Given the description of an element on the screen output the (x, y) to click on. 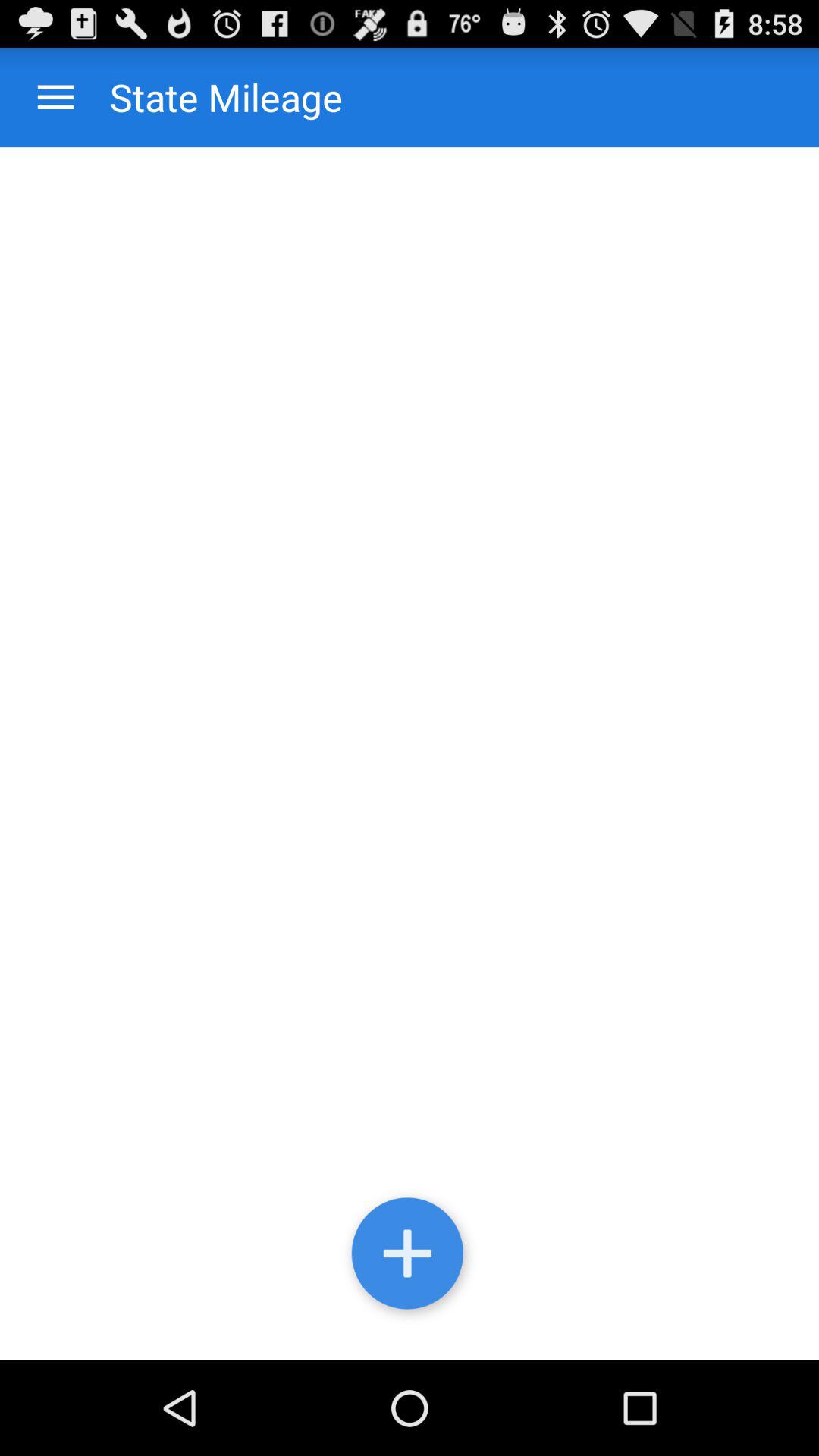
add an item (409, 1256)
